Given the description of an element on the screen output the (x, y) to click on. 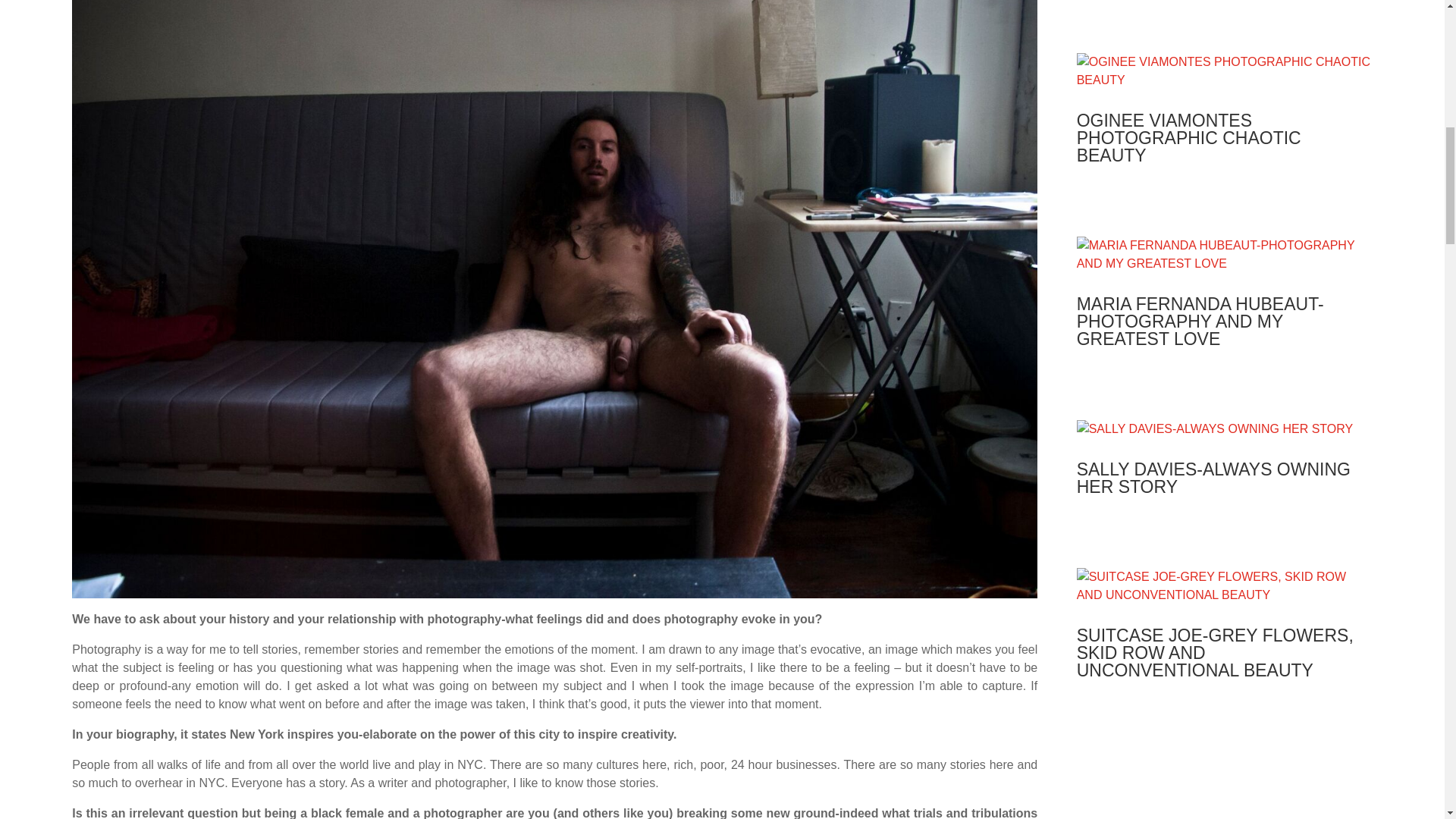
MARIA FERNANDA HUBEAUT-PHOTOGRAPHY AND MY GREATEST LOVE (1200, 321)
OGINEE VIAMONTES PHOTOGRAPHIC CHAOTIC BEAUTY (1189, 137)
